Given the description of an element on the screen output the (x, y) to click on. 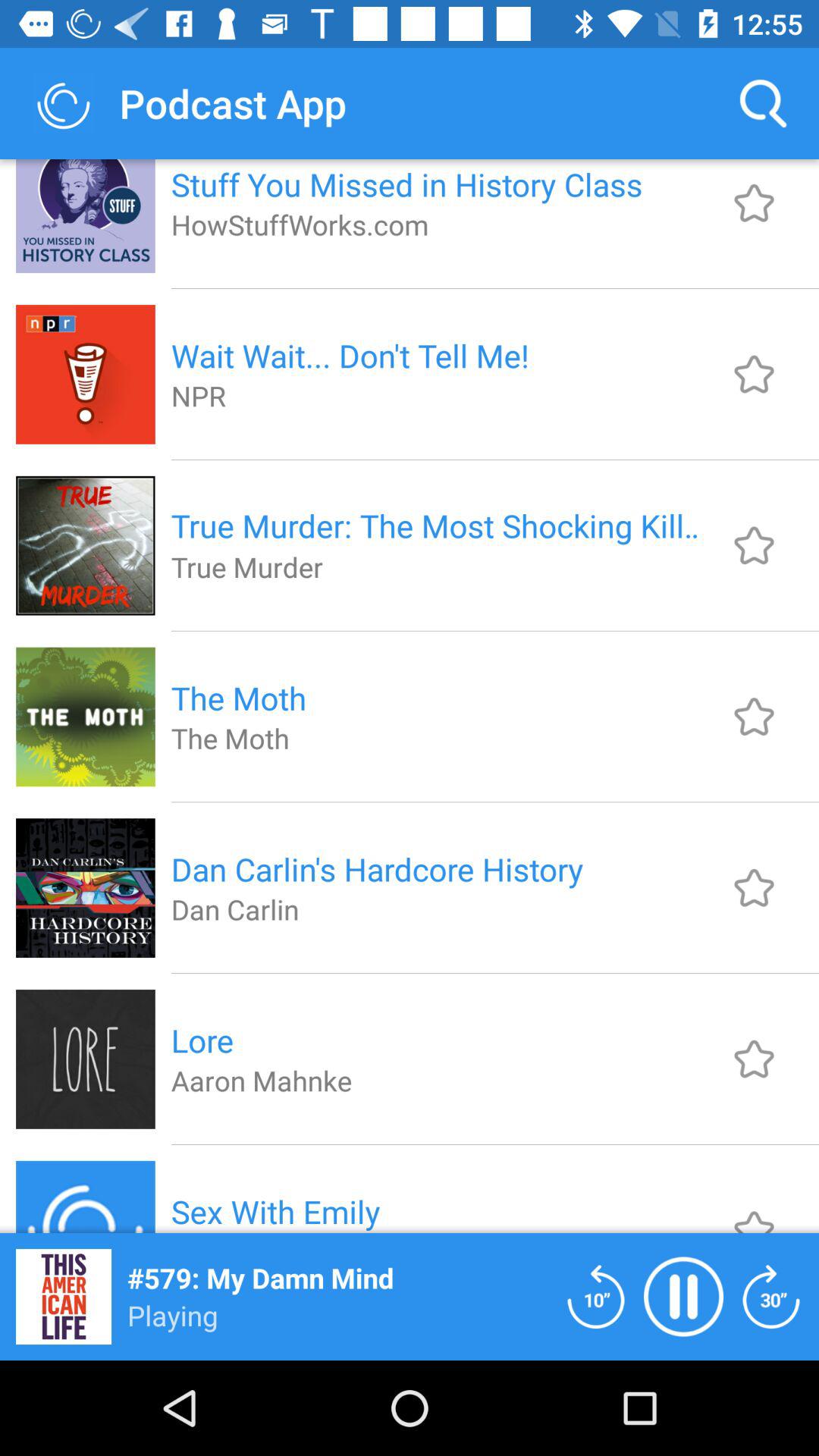
save wait wait do n't tell me npr podcast (754, 374)
